Given the description of an element on the screen output the (x, y) to click on. 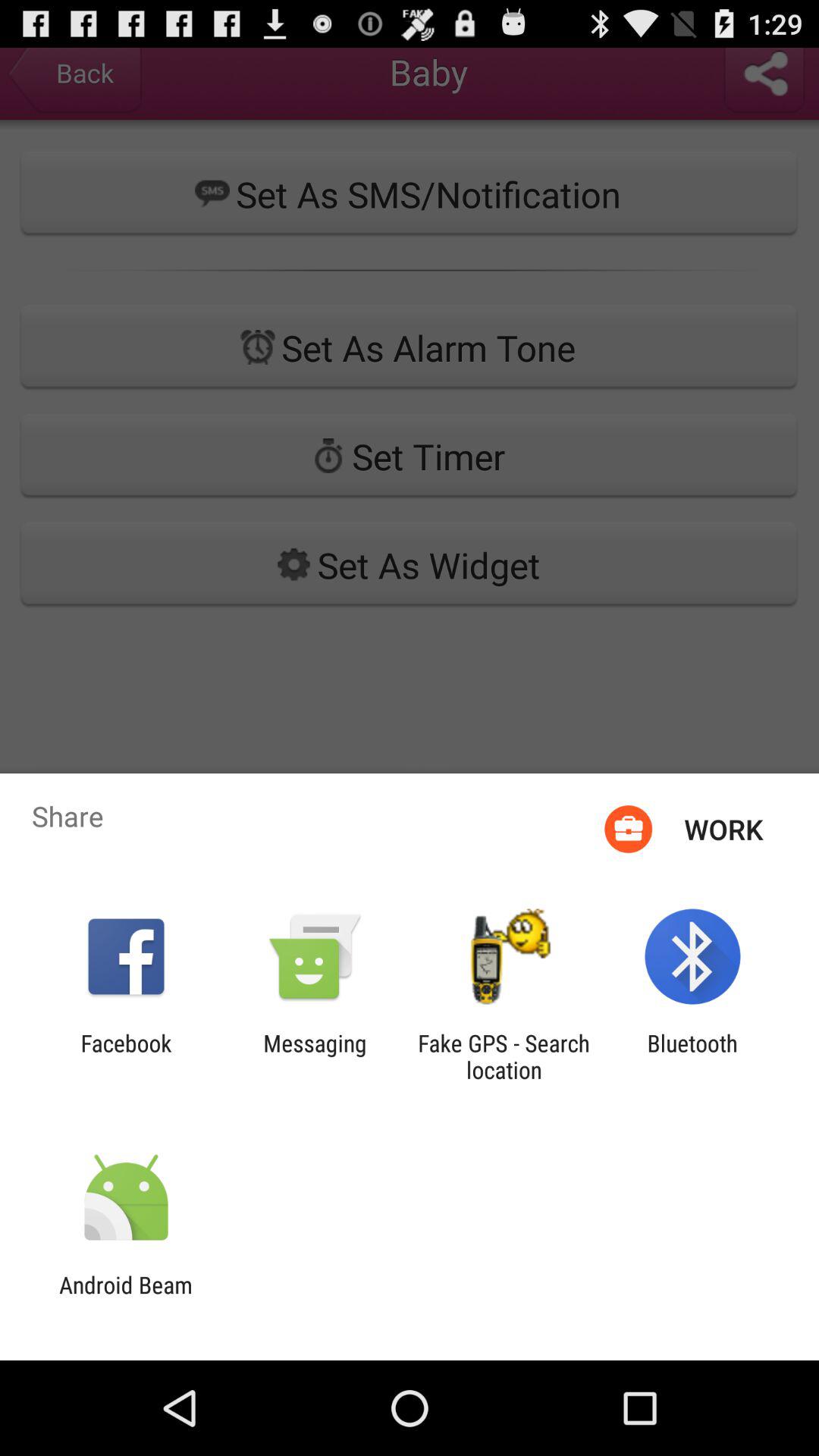
swipe to the bluetooth app (692, 1056)
